Given the description of an element on the screen output the (x, y) to click on. 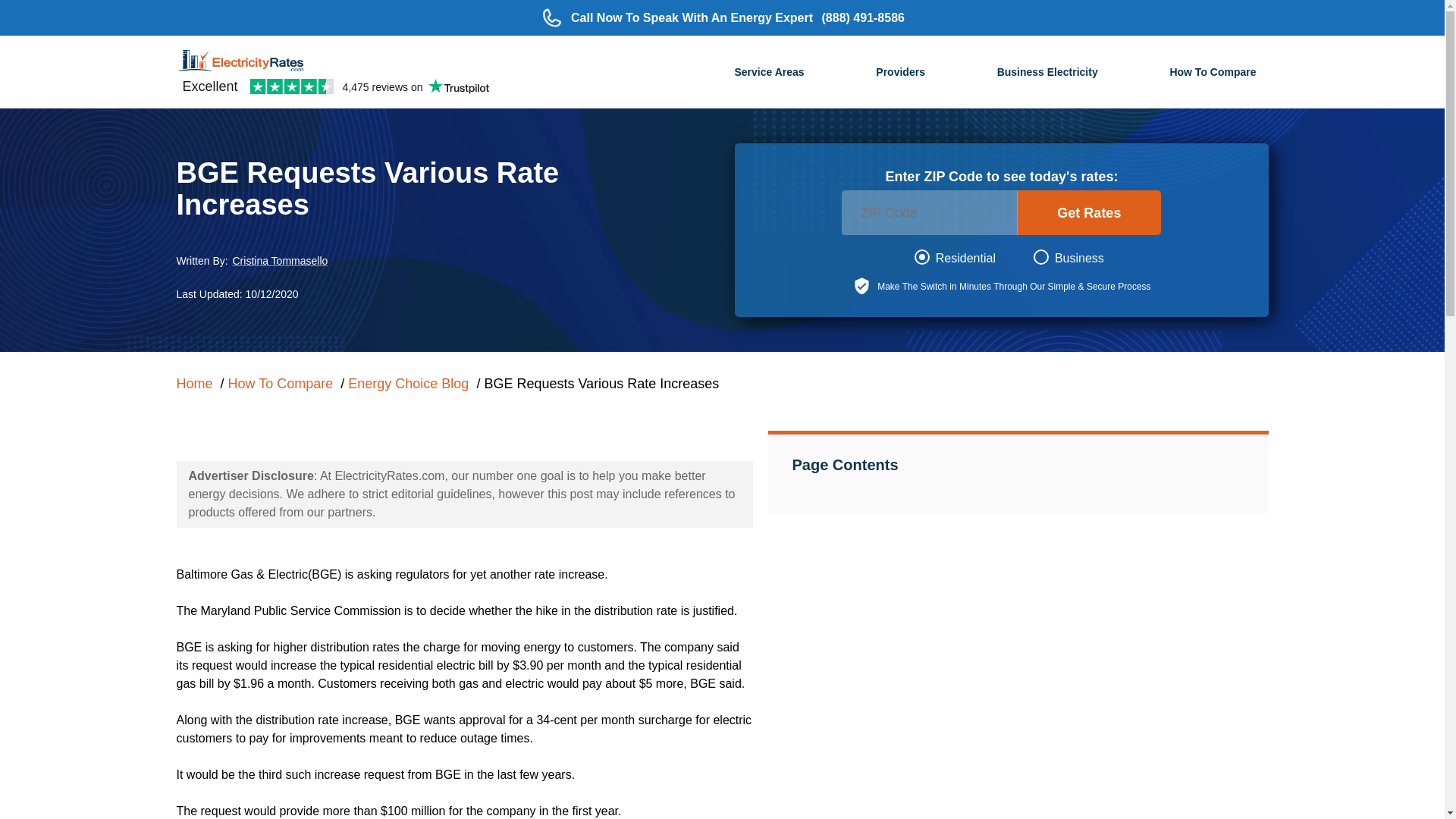
Service Areas (768, 74)
Customer reviews powered by Trustpilot (335, 86)
